Given the description of an element on the screen output the (x, y) to click on. 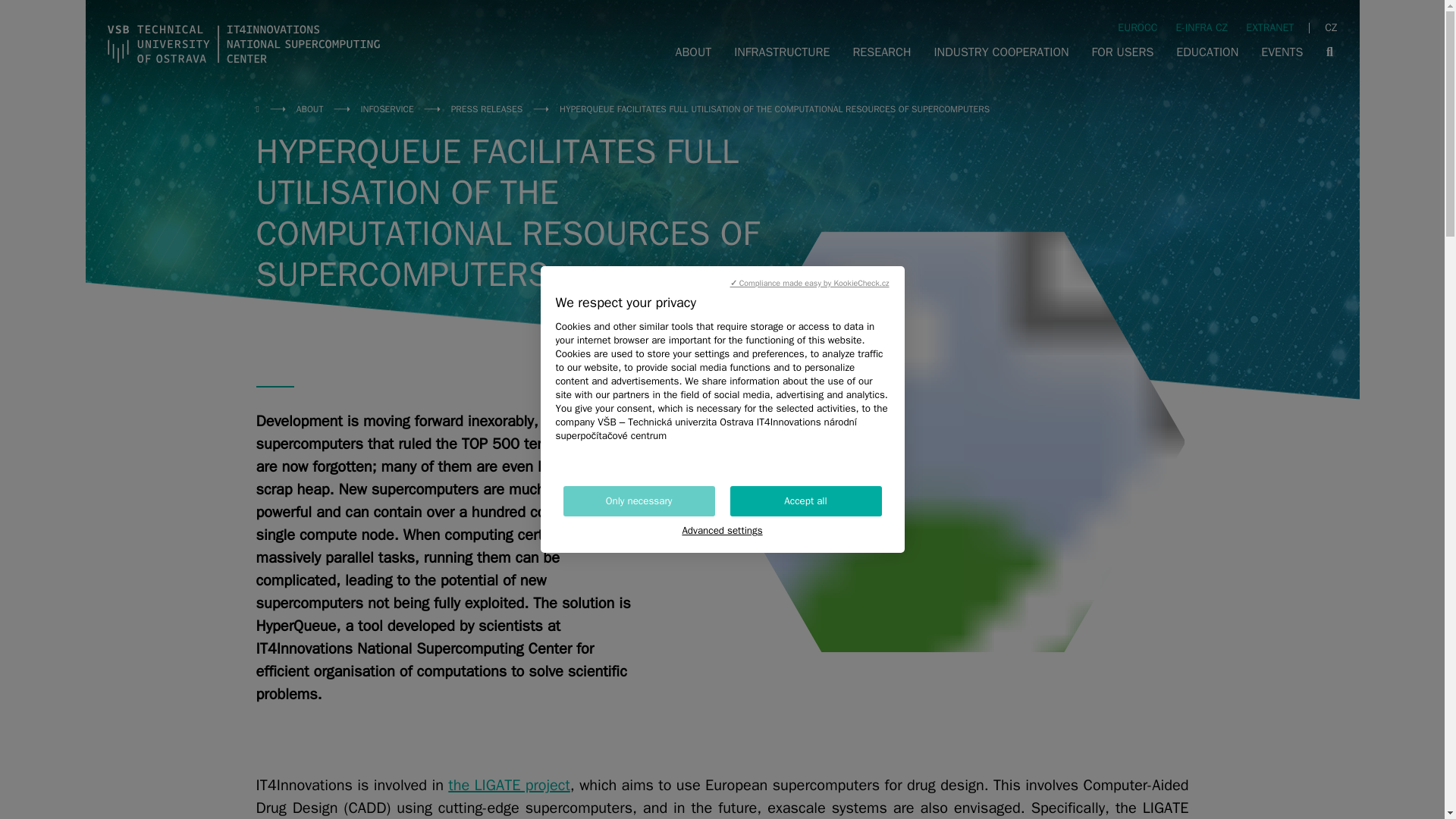
FOR USERS (1123, 51)
E-INFRA CZ (1202, 27)
INFRASTRUCTURE (781, 51)
Homepage (243, 43)
INDUSTRY COOPERATION (1000, 51)
RESEARCH (881, 51)
EUROCC (1137, 27)
CZ (1330, 27)
EXTRANET (1270, 27)
